Given the description of an element on the screen output the (x, y) to click on. 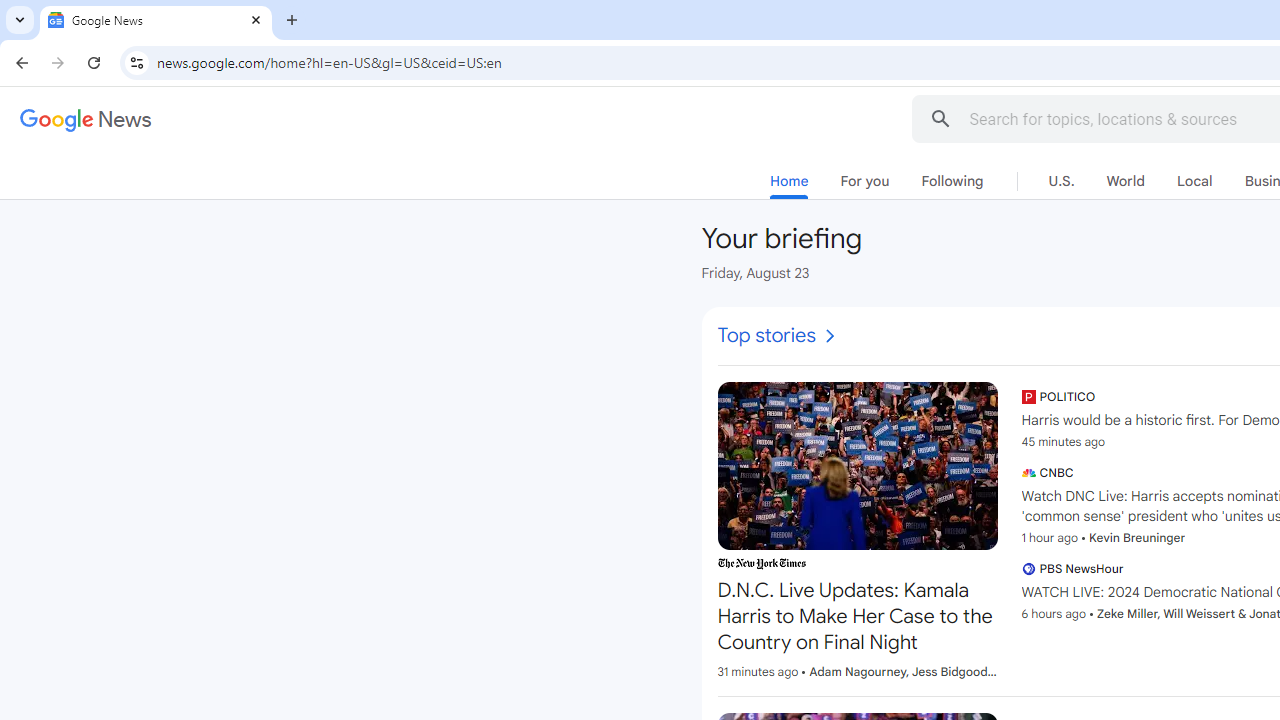
Google News (156, 20)
